Given the description of an element on the screen output the (x, y) to click on. 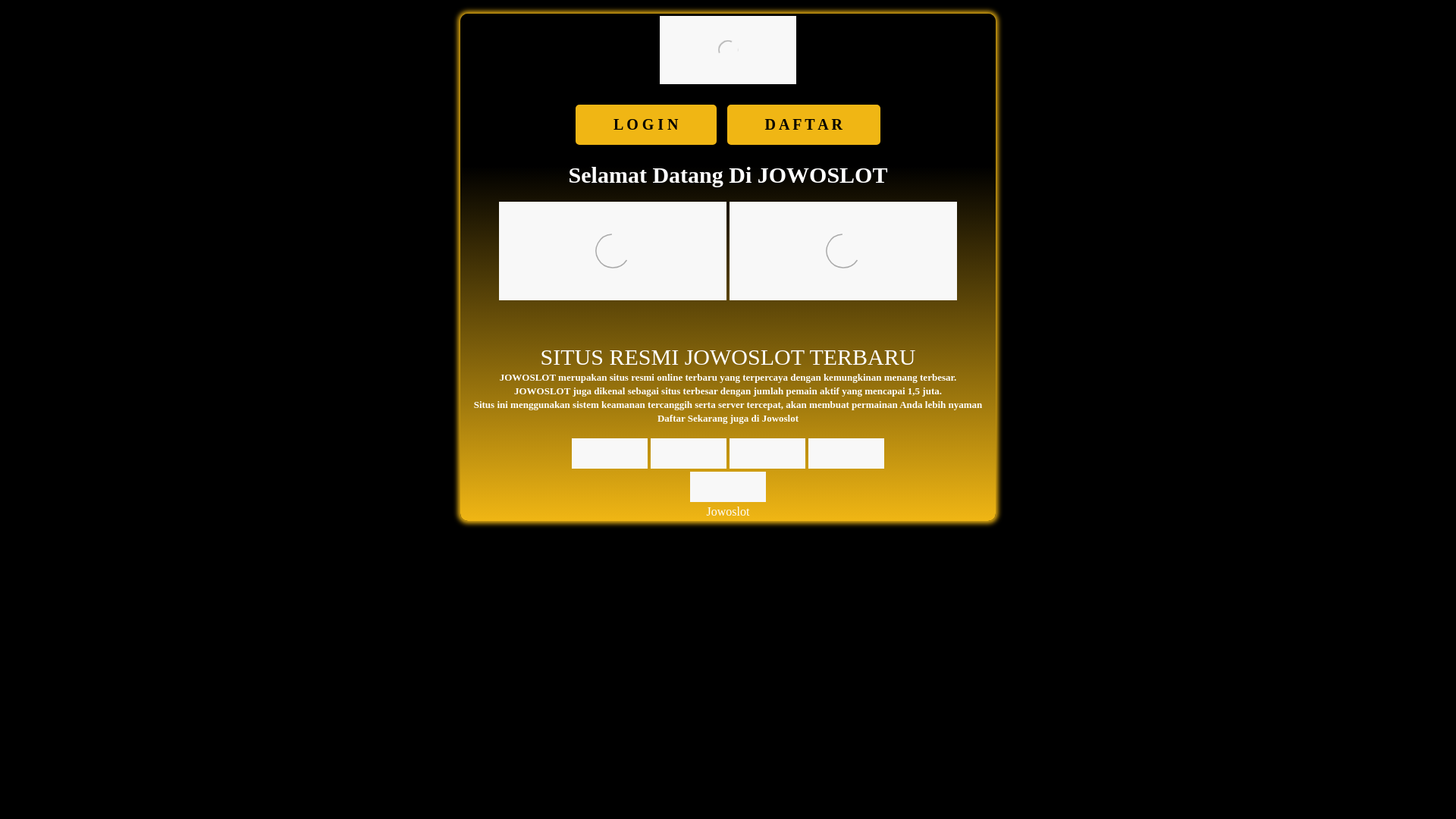
Bank BNI (767, 453)
Bank Danamon (727, 486)
jowoslot (612, 250)
Bank BCA (609, 453)
D A F T A R (803, 124)
Bank Mandiri (845, 453)
jowoslot (842, 250)
L O G I N (646, 124)
jowoslot (727, 49)
Bank BRI (688, 453)
